Given the description of an element on the screen output the (x, y) to click on. 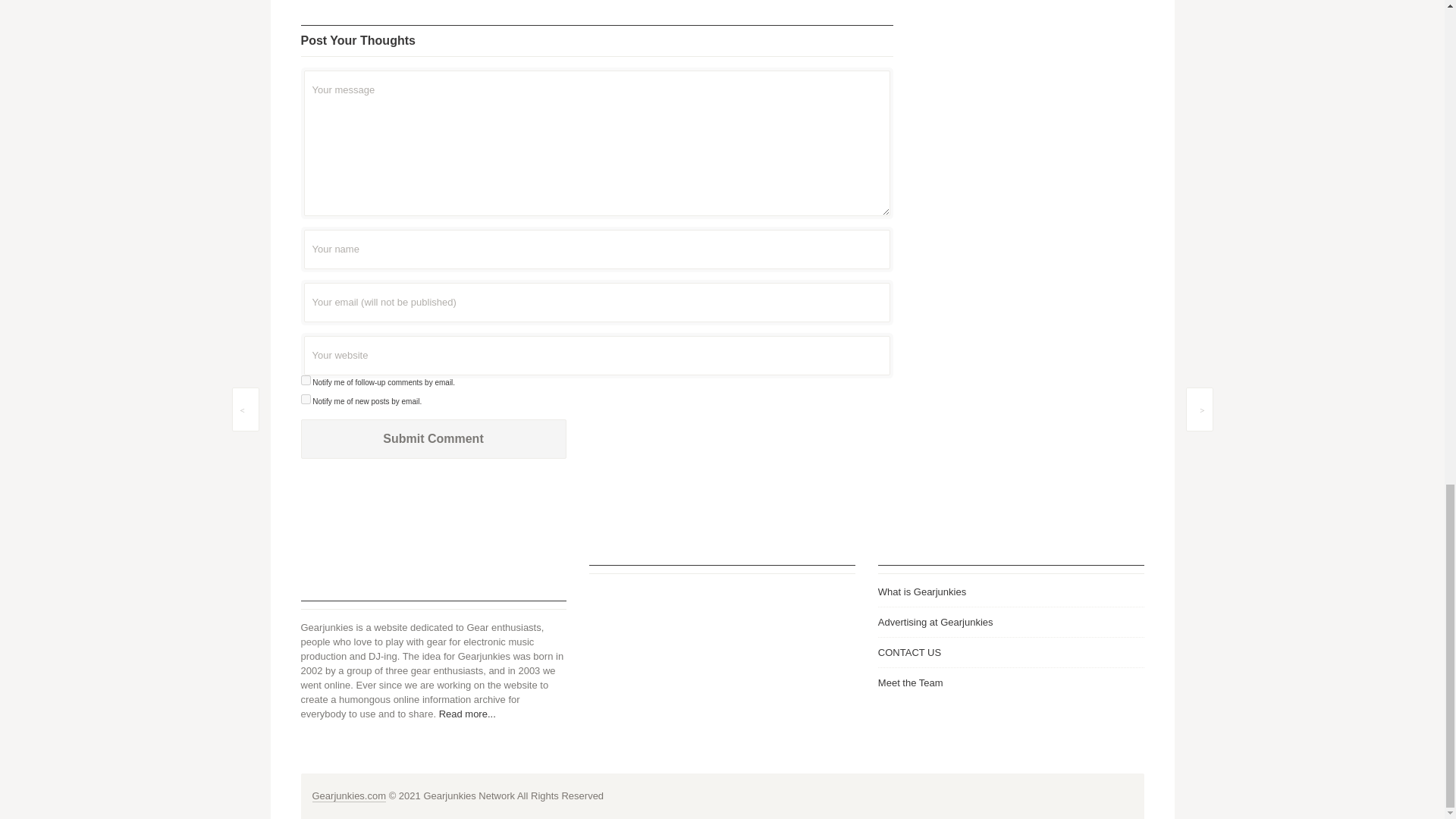
Submit Comment (432, 438)
subscribe (304, 398)
subscribe (304, 379)
